Given the description of an element on the screen output the (x, y) to click on. 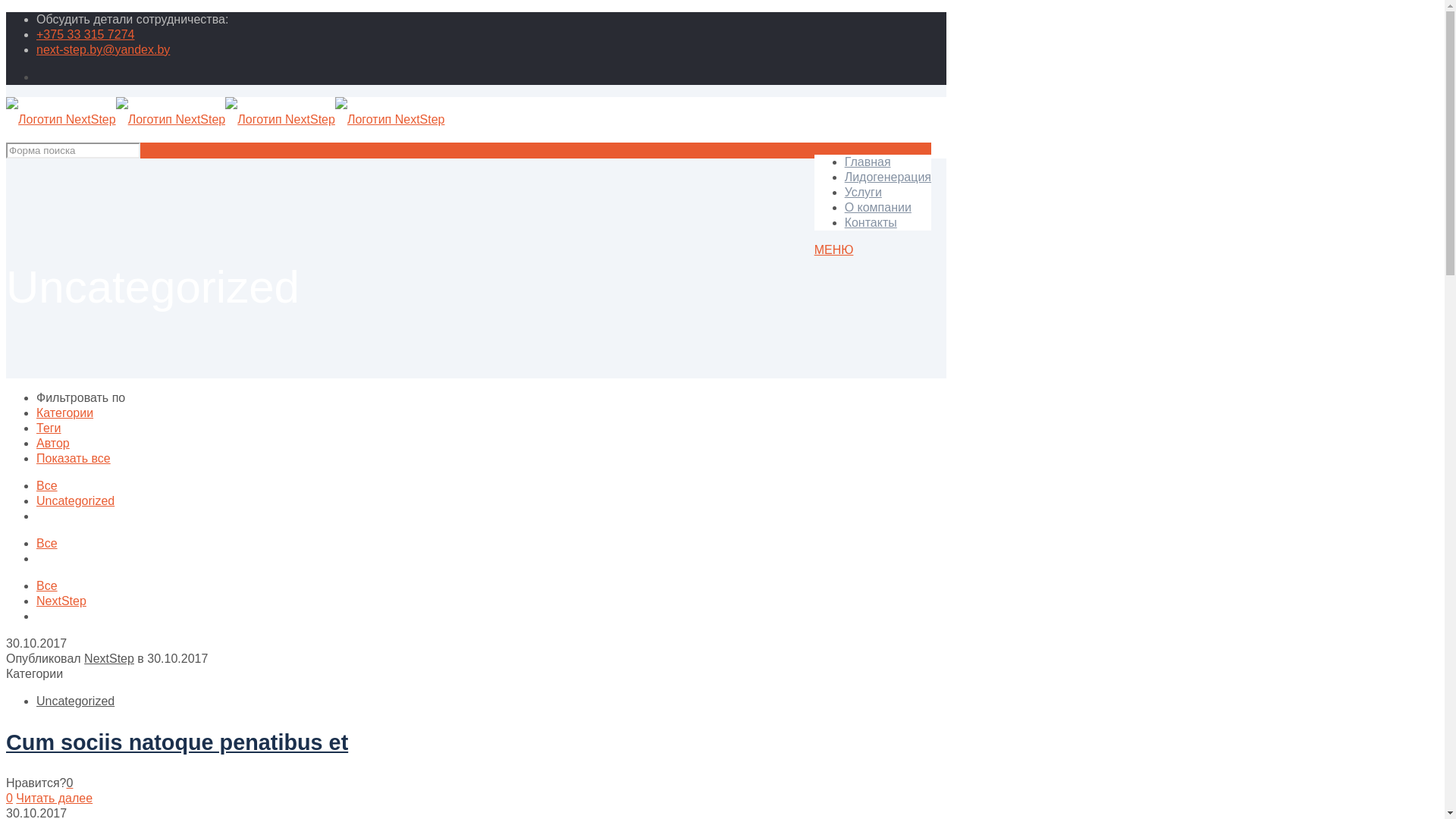
+375 33 315 7274 Element type: text (85, 34)
Uncategorized Element type: text (75, 500)
0 Element type: text (9, 797)
Uncategorized Element type: text (75, 700)
next-step.by@yandex.by Element type: text (102, 49)
Cum sociis natoque penatibus et Element type: text (177, 742)
0 Element type: text (69, 782)
NextStep Element type: text (109, 658)
NextStep Element type: text (61, 600)
